Given the description of an element on the screen output the (x, y) to click on. 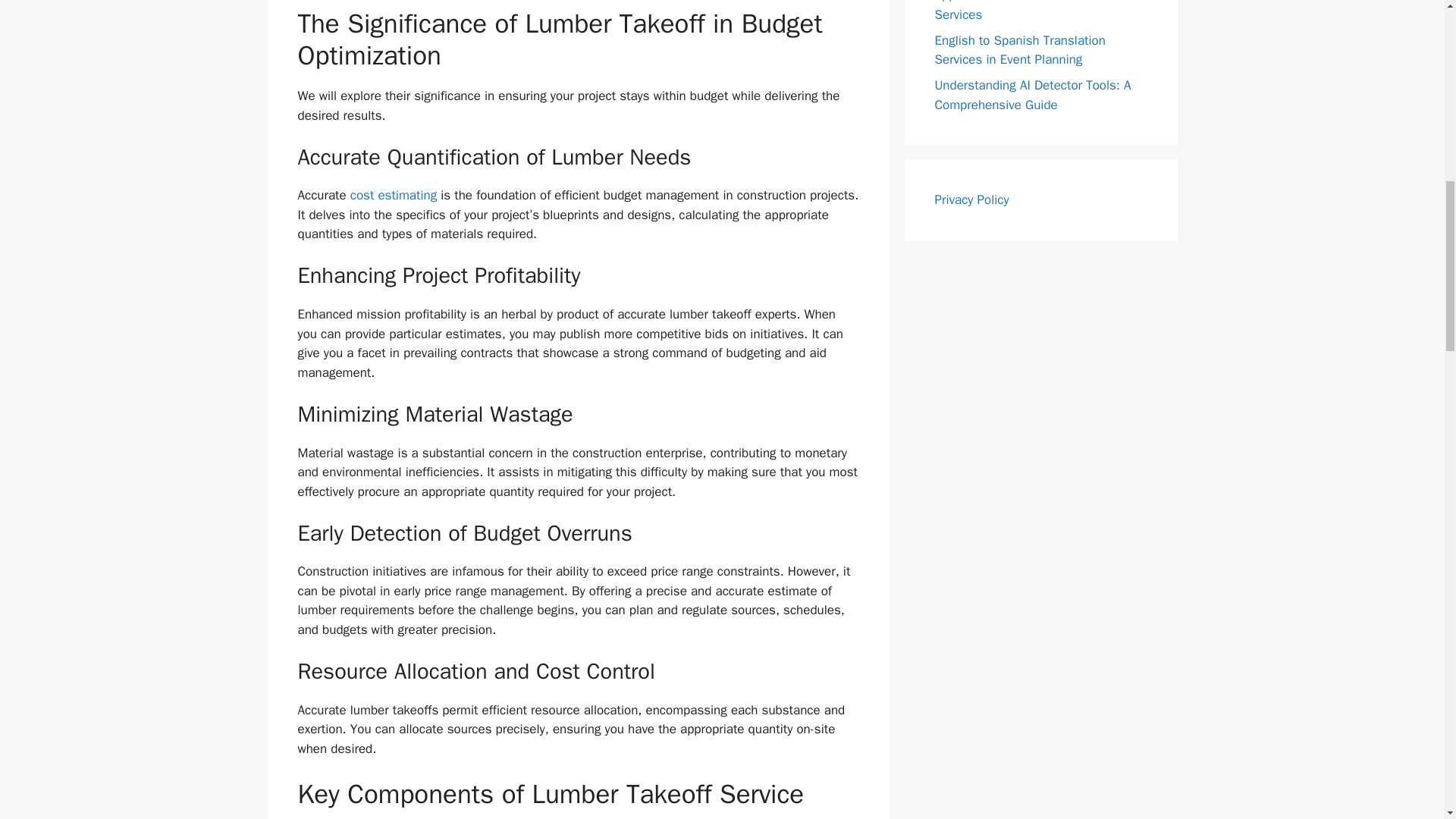
cost estimating (393, 195)
Understanding AI Detector Tools: A Comprehensive Guide (1032, 94)
Privacy Policy (971, 199)
English to Spanish Translation Services in Event Planning (1019, 49)
